Given the description of an element on the screen output the (x, y) to click on. 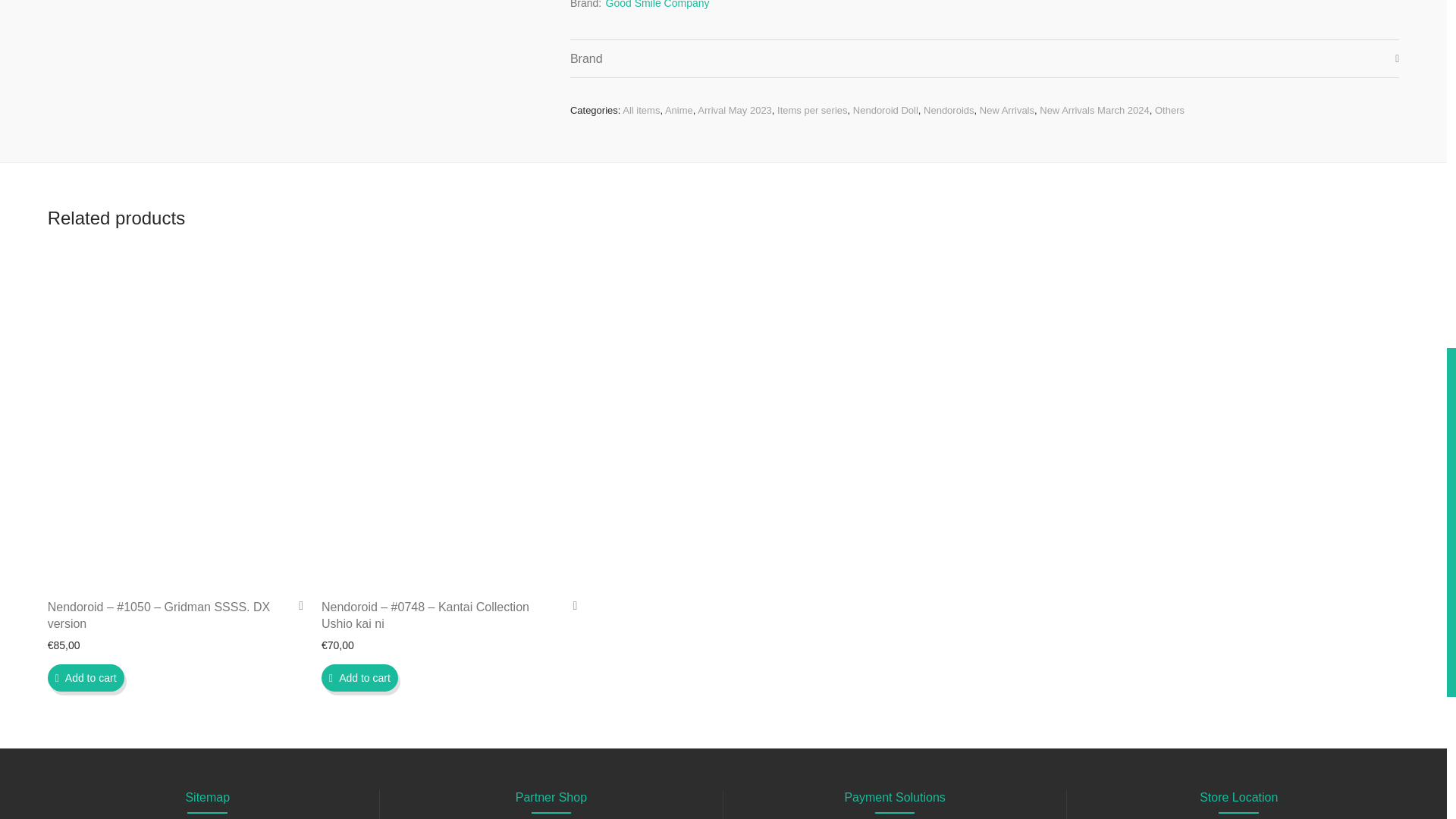
All items (641, 110)
View brand (657, 6)
Brand (984, 58)
Anime (679, 110)
Arrival May 2023 (734, 110)
Add to Wishlist (569, 604)
Good Smile Company (657, 6)
Add to Wishlist (295, 604)
